Given the description of an element on the screen output the (x, y) to click on. 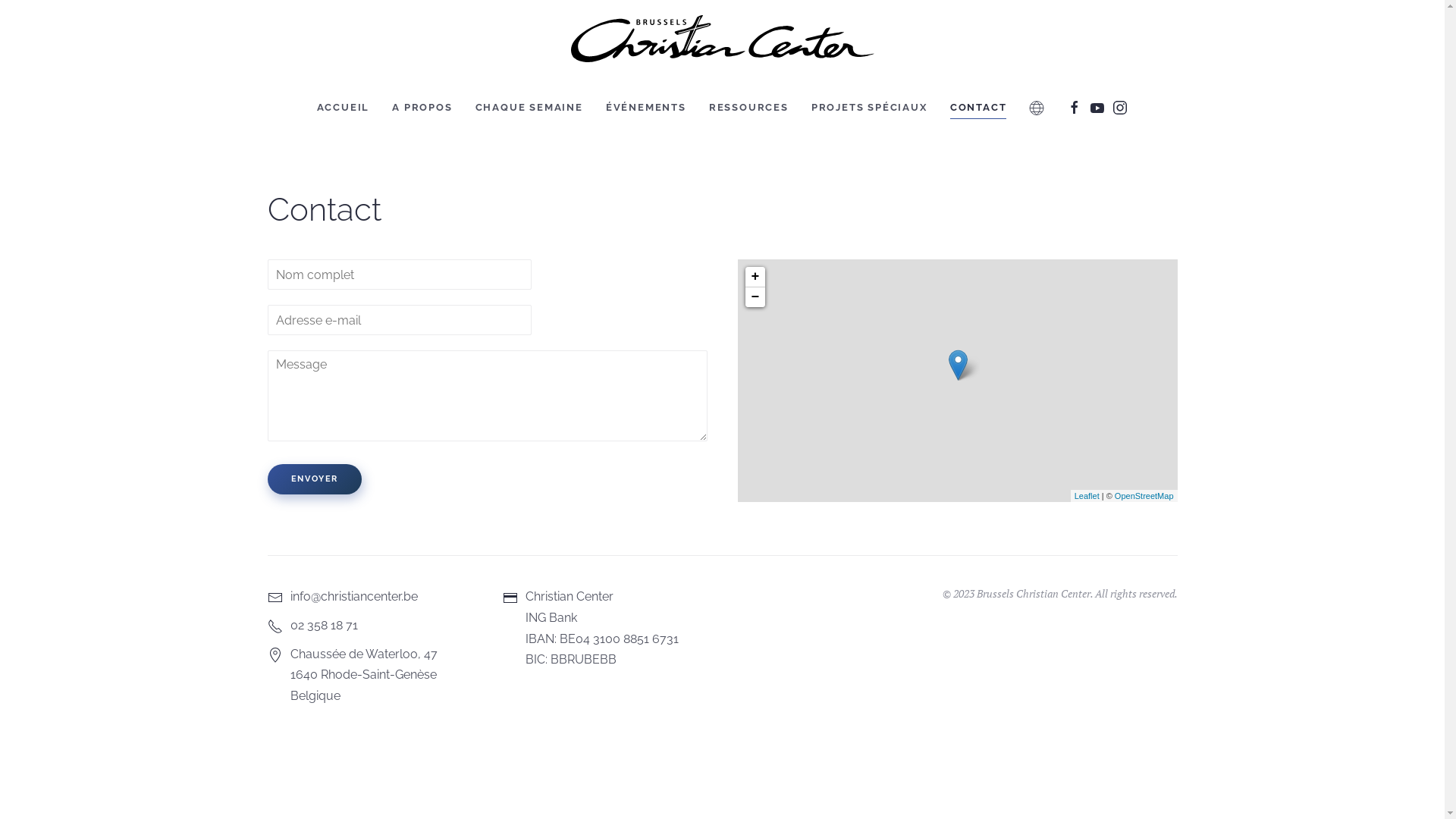
A PROPOS Element type: text (421, 107)
Leaflet Element type: text (1086, 495)
RESSOURCES Element type: text (748, 107)
OpenStreetMap Element type: text (1143, 495)
ENVOYER Element type: text (313, 479)
02 358 18 71 Element type: text (380, 625)
info@christiancenter.be Element type: text (380, 596)
CONTACT Element type: text (978, 107)
ACCUEIL Element type: text (343, 107)
CHAQUE SEMAINE Element type: text (529, 107)
+ Element type: text (754, 276)
